Given the description of an element on the screen output the (x, y) to click on. 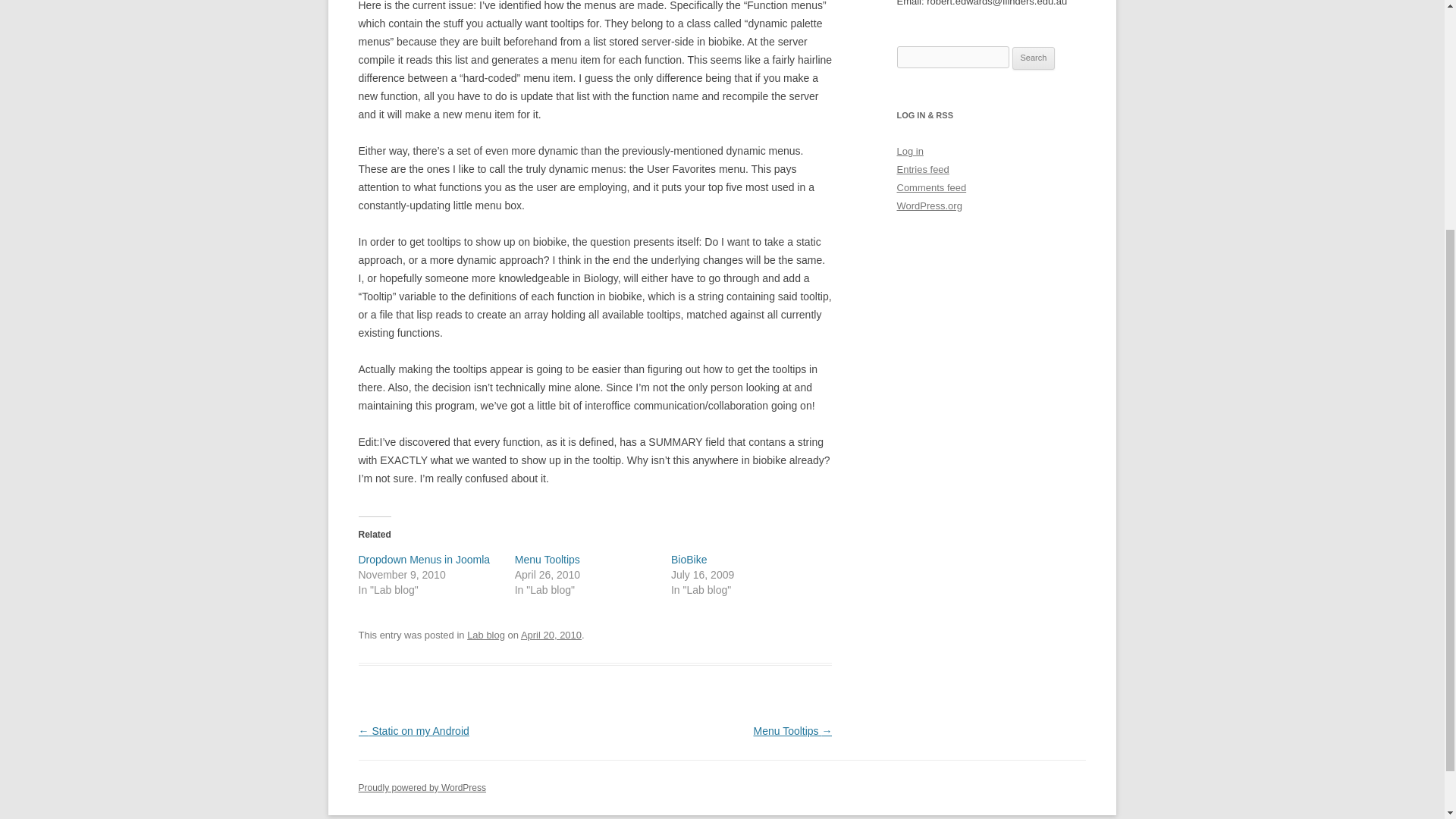
Search (1033, 57)
Entries feed (922, 169)
April 20, 2010 (550, 634)
Log in (909, 151)
Dropdown Menus in Joomla (423, 559)
Dropdown Menus in Joomla (423, 559)
Menu Tooltips (547, 559)
Search (1033, 57)
BioBike (688, 559)
Lab blog (486, 634)
